Given the description of an element on the screen output the (x, y) to click on. 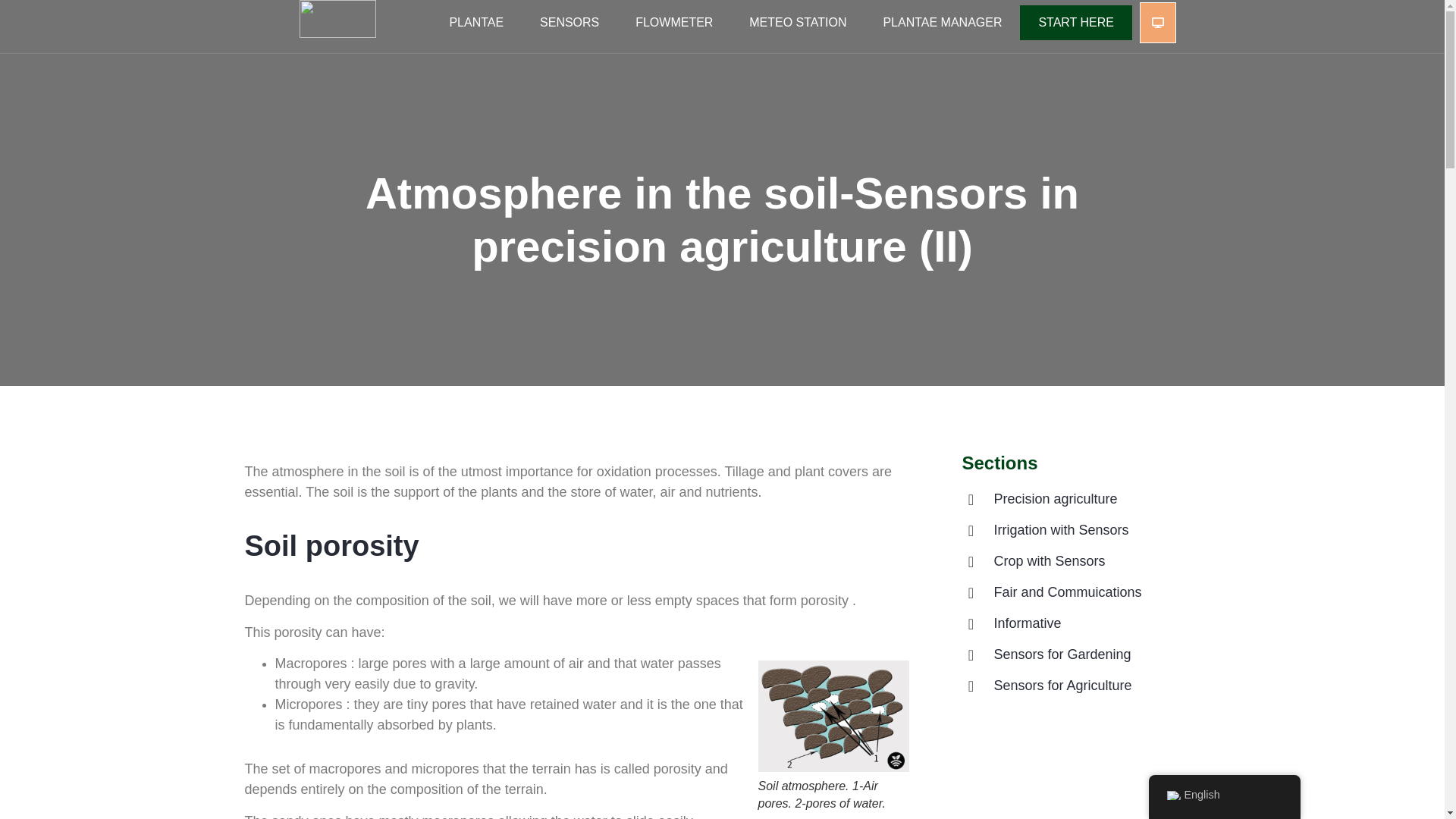
METEO STATION (797, 21)
START HERE (1075, 21)
PLANTAE (475, 21)
SENSORS (569, 21)
FLOWMETER (673, 21)
PLANTAE MANAGER (942, 21)
English (1172, 795)
